Given the description of an element on the screen output the (x, y) to click on. 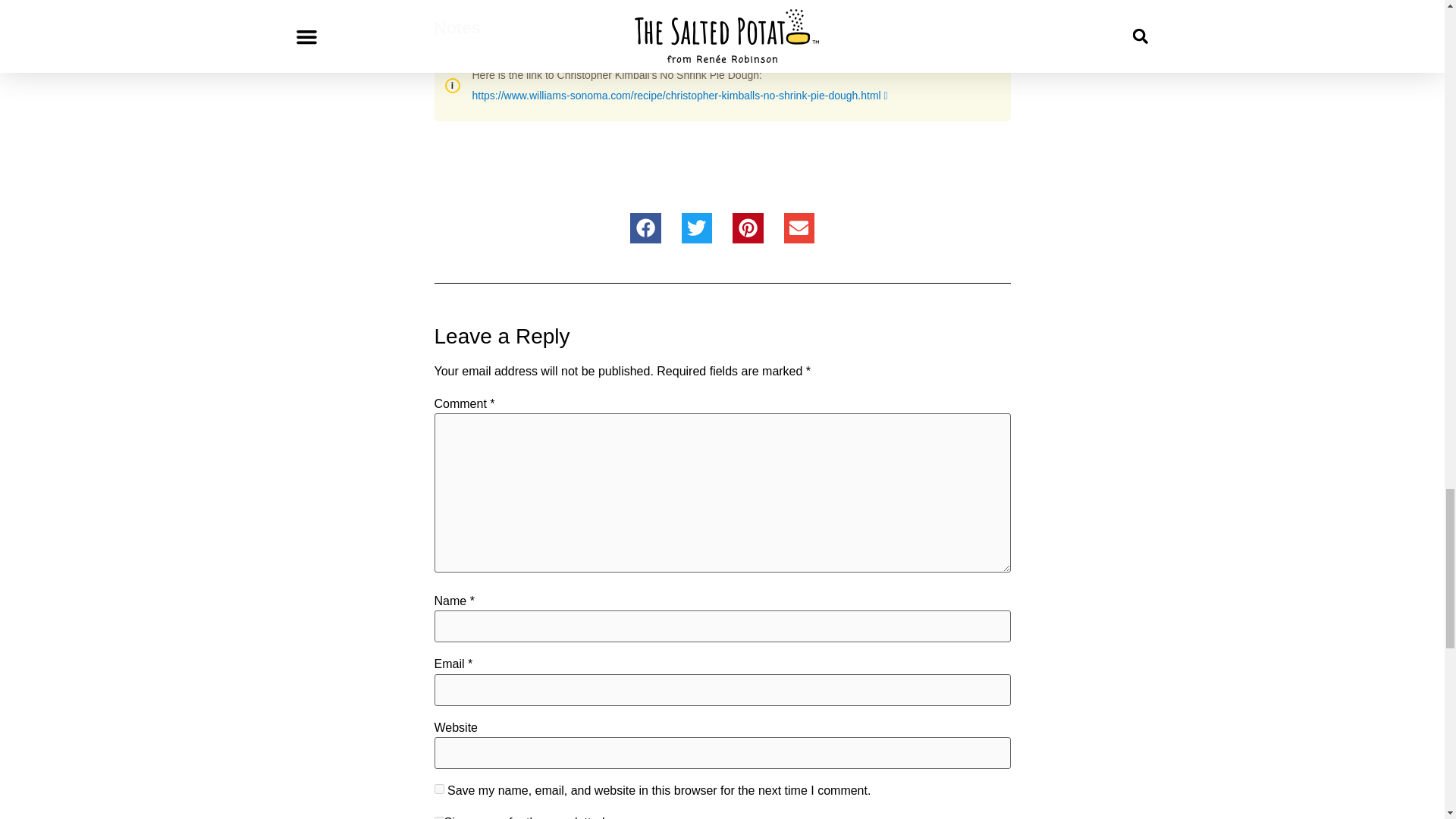
yes (438, 788)
